Given the description of an element on the screen output the (x, y) to click on. 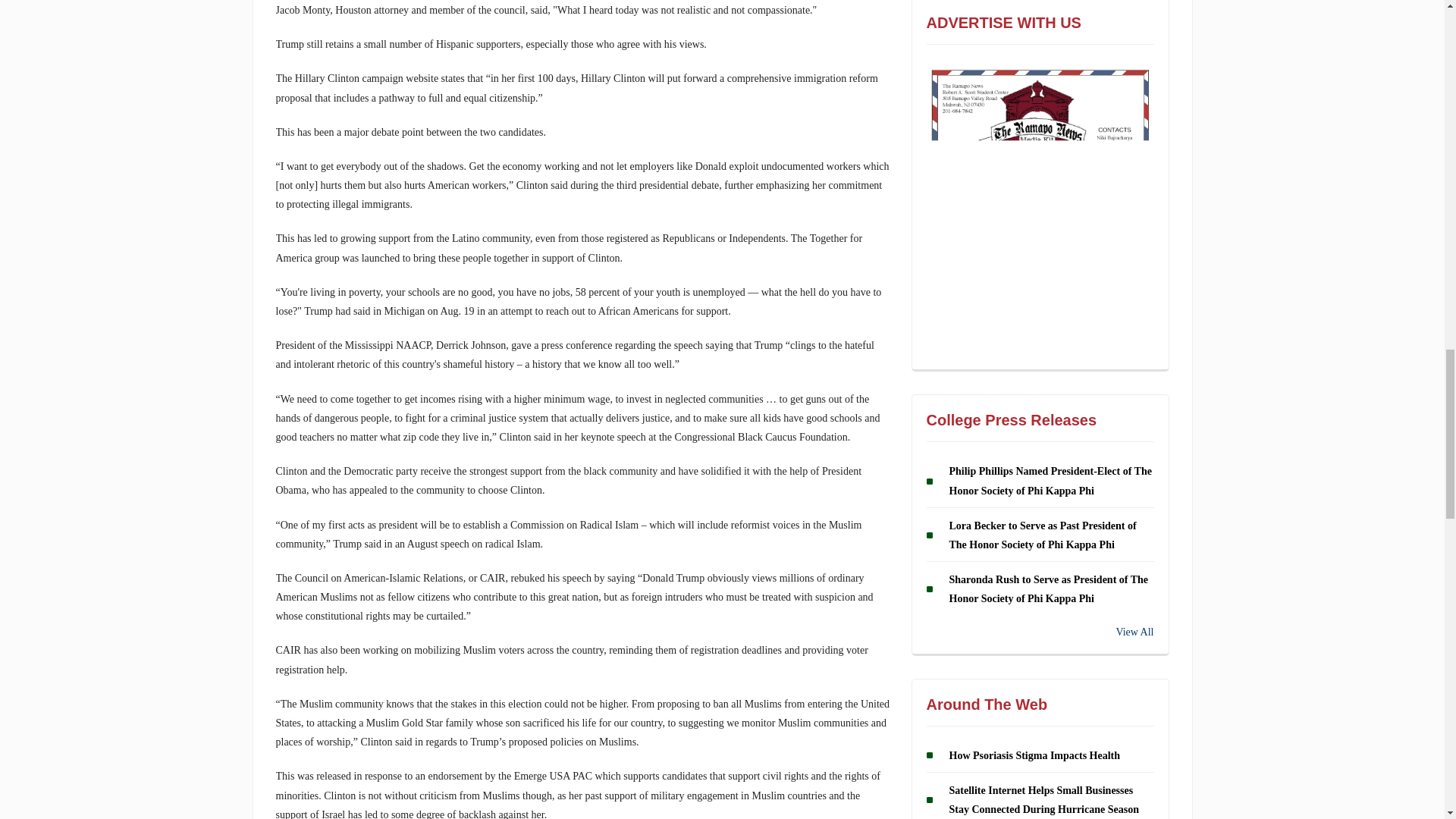
How Psoriasis Stigma Impacts Health (1035, 755)
